Given the description of an element on the screen output the (x, y) to click on. 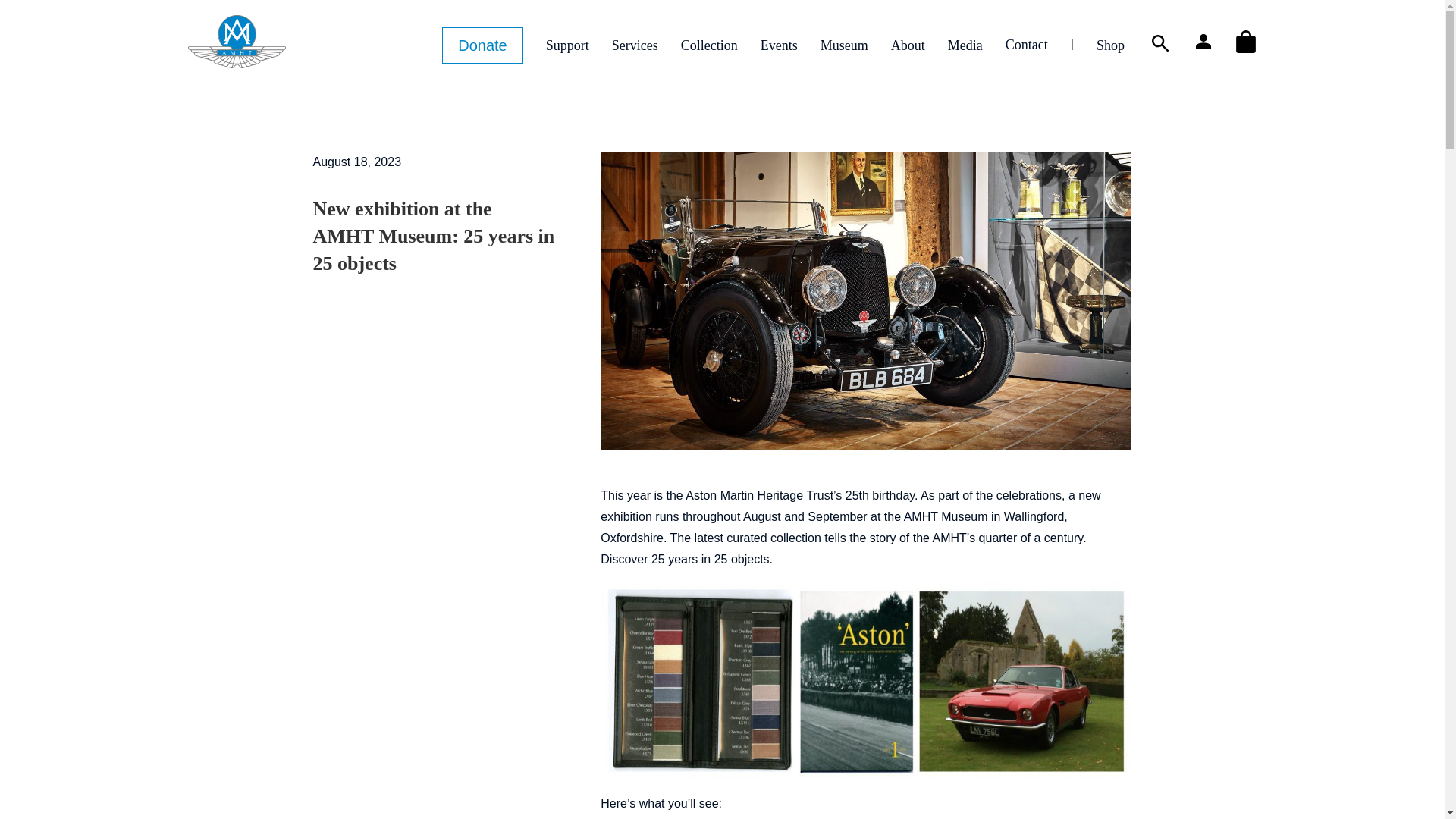
Shop (1110, 44)
Collection (709, 44)
About (907, 44)
Services (634, 44)
Support (567, 44)
Contact (1027, 44)
Media (964, 44)
Museum (844, 44)
Events (778, 44)
Donate (482, 45)
